Given the description of an element on the screen output the (x, y) to click on. 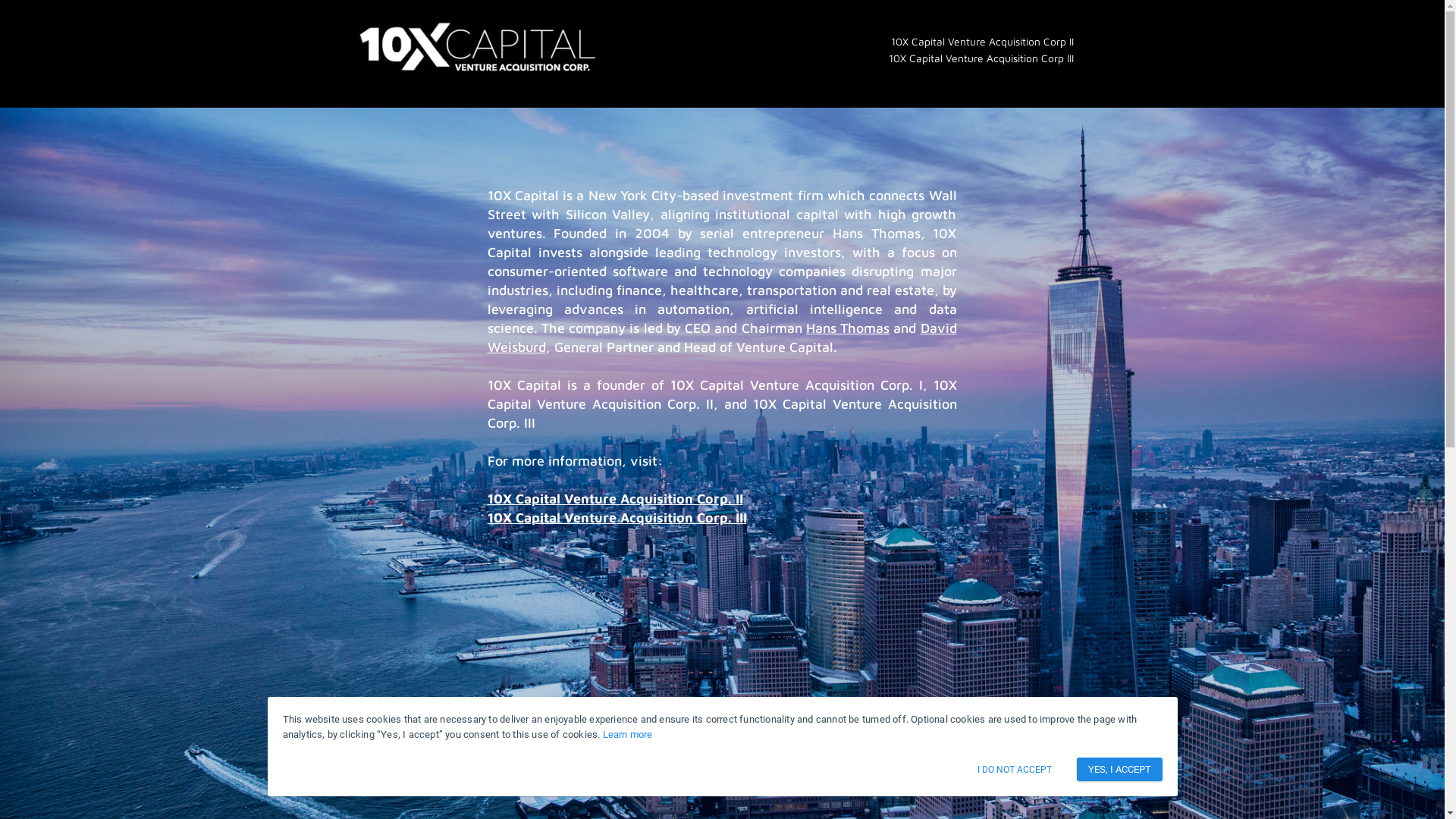
Learn more Element type: text (627, 734)
I DO NOT ACCEPT Element type: text (1014, 769)
YES, I ACCEPT Element type: text (1119, 769)
10X Capital Venture Acquisition Corp. II Element type: text (614, 498)
David Weisburd Element type: text (721, 337)
10X Capital Venture Acquisition Corp III Element type: text (980, 58)
10X Capital Venture Acquisition Corp II Element type: text (981, 41)
Hans Thomas Element type: text (847, 327)
10X Capital Venture Acquisition Corp. III Element type: text (616, 517)
